Given the description of an element on the screen output the (x, y) to click on. 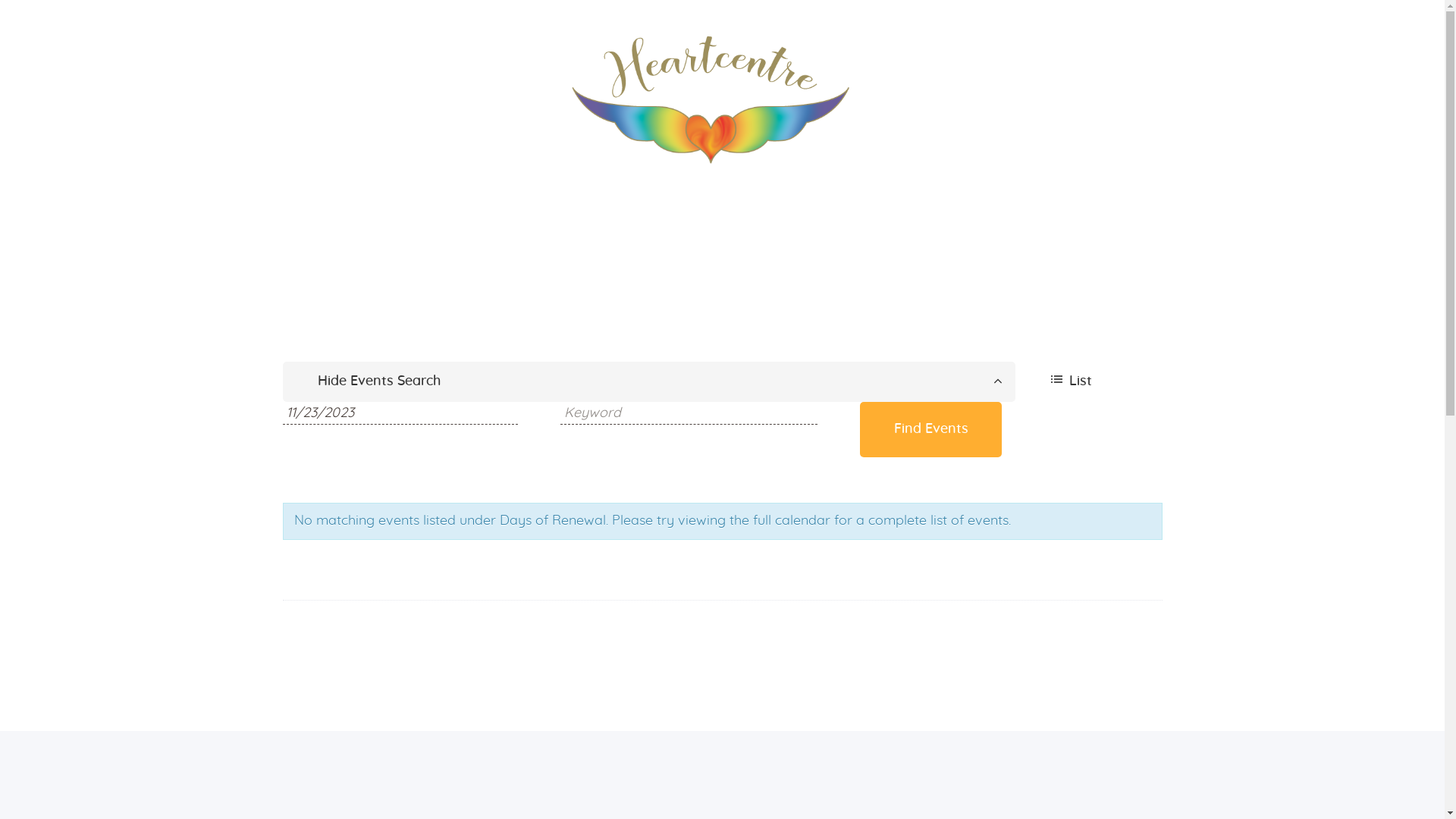
List Element type: text (1088, 381)
Find Events Element type: text (930, 429)
Hide Events Search Element type: text (648, 381)
